Given the description of an element on the screen output the (x, y) to click on. 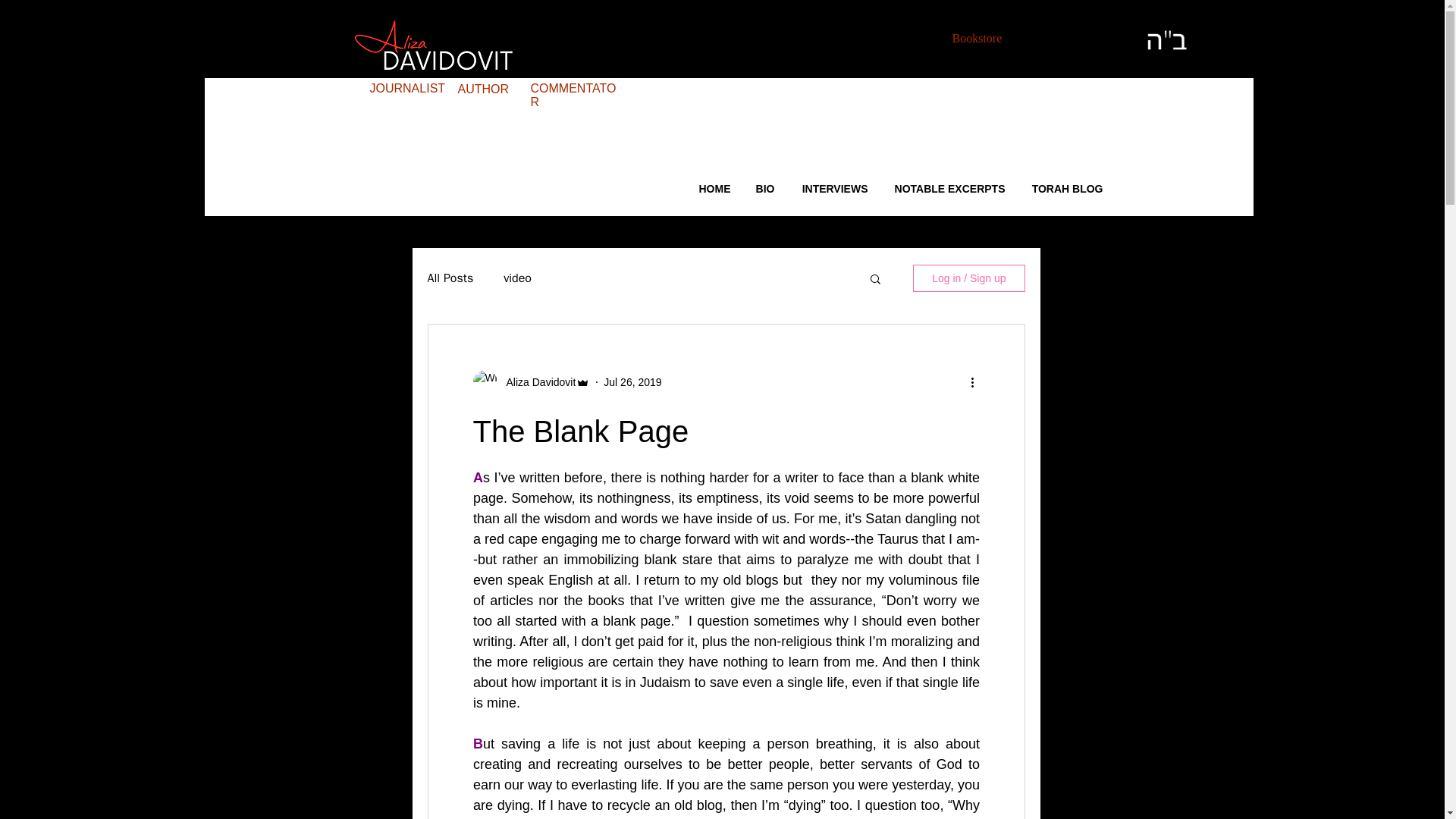
HOME (713, 188)
TORAH BLOG (1064, 188)
BIO (763, 188)
video (517, 277)
NOTABLE EXCERPTS (947, 188)
INTERVIEWS (832, 188)
Jul 26, 2019 (632, 381)
Bookstore (977, 38)
All Posts (451, 277)
A.png (431, 44)
